Given the description of an element on the screen output the (x, y) to click on. 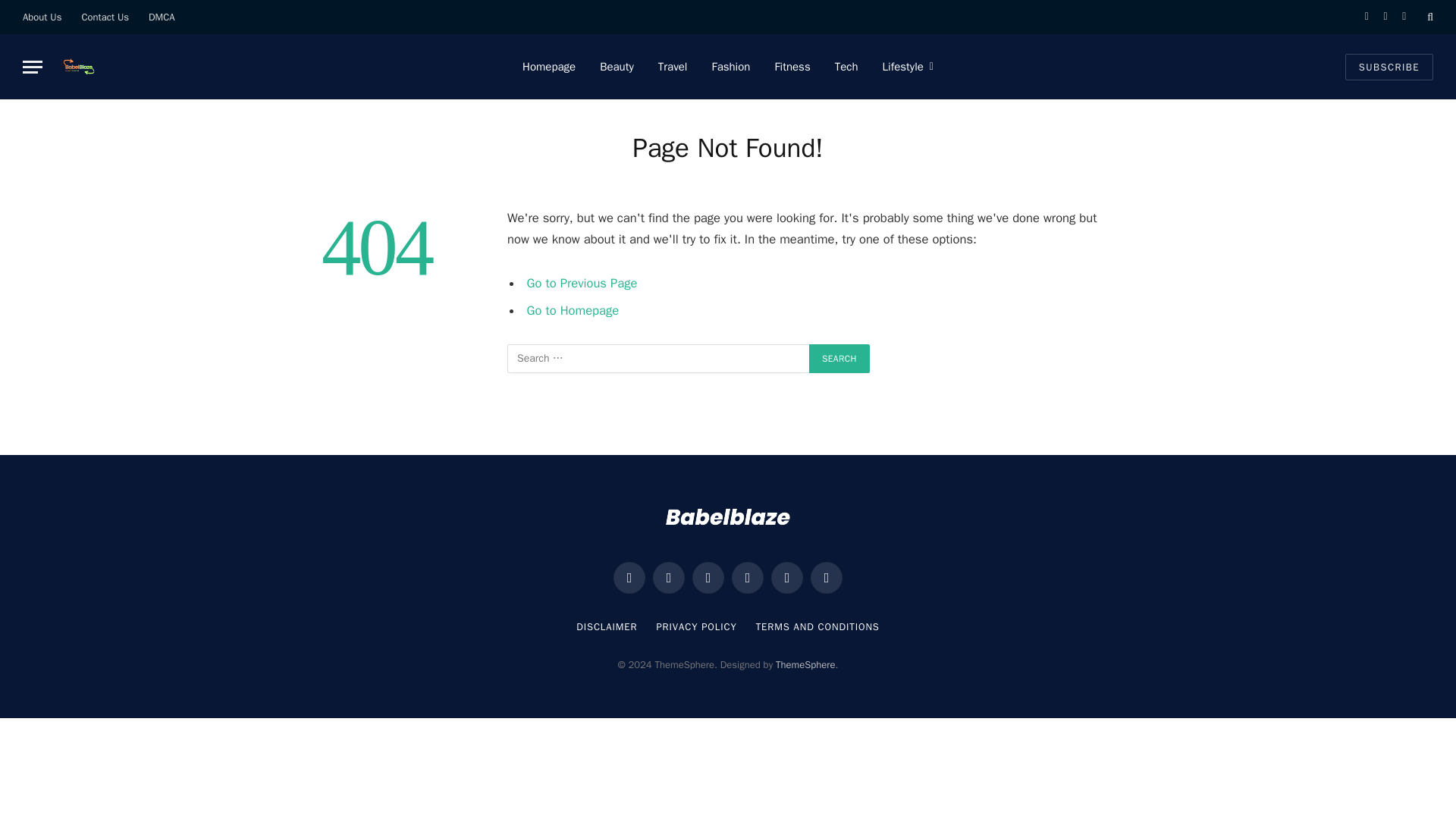
Lifestyle (907, 66)
Beauty (617, 66)
DMCA (161, 17)
Contact Us (104, 17)
Fashion (729, 66)
Search (839, 358)
About Us (42, 17)
Search (839, 358)
Fitness (791, 66)
Homepage (549, 66)
